Given the description of an element on the screen output the (x, y) to click on. 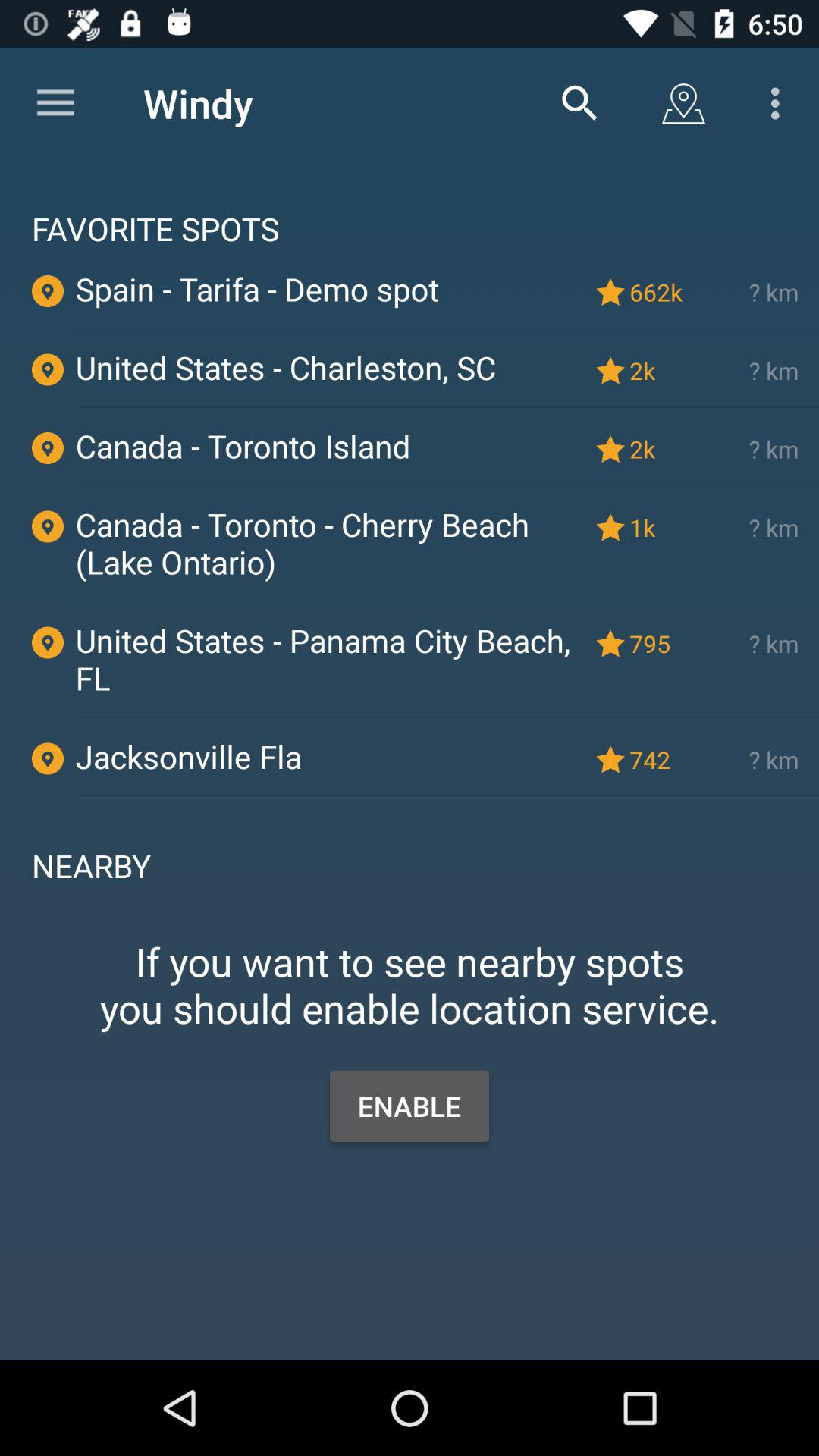
scroll until the jacksonville fla icon (327, 756)
